Given the description of an element on the screen output the (x, y) to click on. 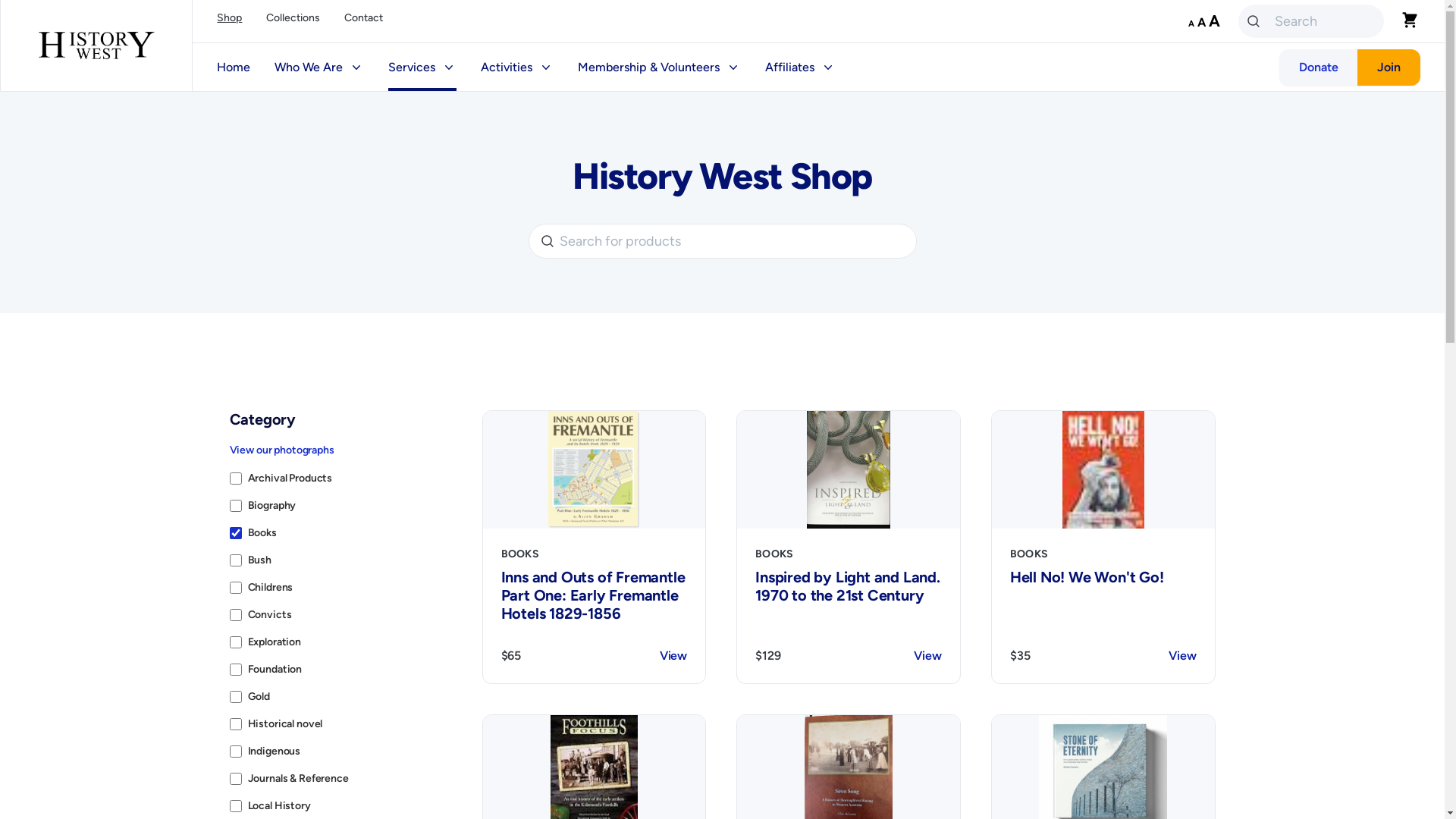
Membership & Volunteers Element type: text (658, 67)
Collections Element type: text (293, 20)
Affiliates Element type: text (800, 67)
Shop Element type: text (228, 20)
View our photographs Element type: text (281, 449)
A
Reset font size. Element type: text (1201, 22)
A
Decrease font size. Element type: text (1191, 23)
Home Element type: text (233, 67)
Activities Element type: text (516, 67)
Donate Element type: text (1318, 66)
Services Element type: text (422, 67)
A
Increase font size. Element type: text (1214, 20)
Who We Are Element type: text (319, 67)
Royal West Australian History Society Element type: text (96, 45)
Contact Element type: text (363, 20)
Join Element type: text (1388, 66)
